Given the description of an element on the screen output the (x, y) to click on. 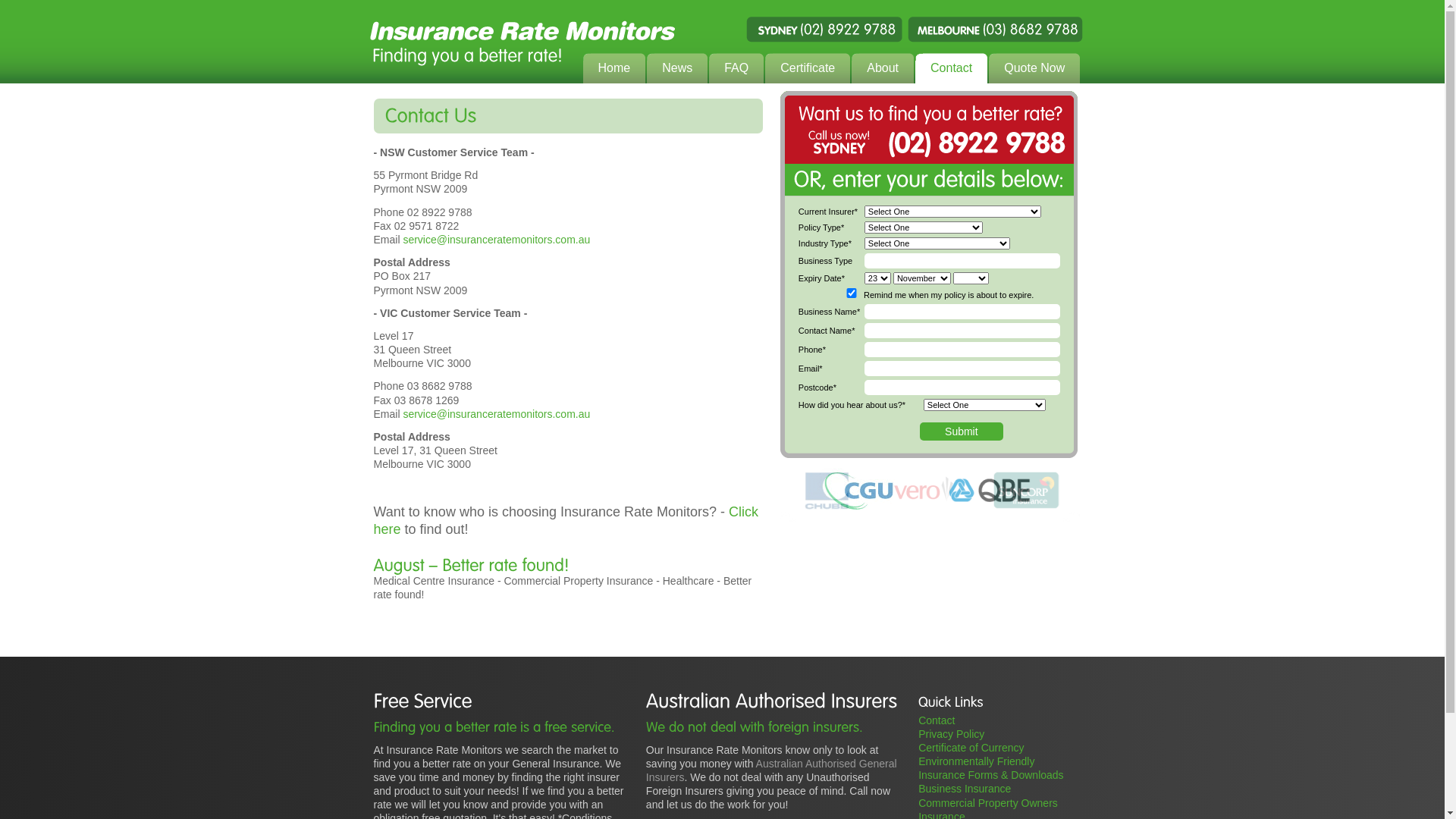
Business Insurance Element type: text (964, 788)
Click here Element type: text (565, 520)
service@insuranceratemonitors.com.au Element type: text (495, 413)
Certificate Element type: text (807, 68)
Certificate of Currency Element type: text (970, 747)
Insurance Rate Monitors Element type: text (721, 41)
service@insuranceratemonitors.com.au Element type: text (495, 239)
Environmentally Friendly Element type: text (976, 761)
Contact Element type: text (951, 68)
About Element type: text (882, 68)
Australian Authorised General Insurers Element type: text (771, 770)
FAQ Element type: text (736, 68)
Home Element type: text (613, 68)
News Element type: text (676, 68)
Contact Element type: text (936, 720)
Insurance Forms & Downloads Element type: text (990, 774)
Privacy Policy Element type: text (951, 734)
Quote Now Element type: text (1033, 68)
Submit Element type: text (961, 431)
